Given the description of an element on the screen output the (x, y) to click on. 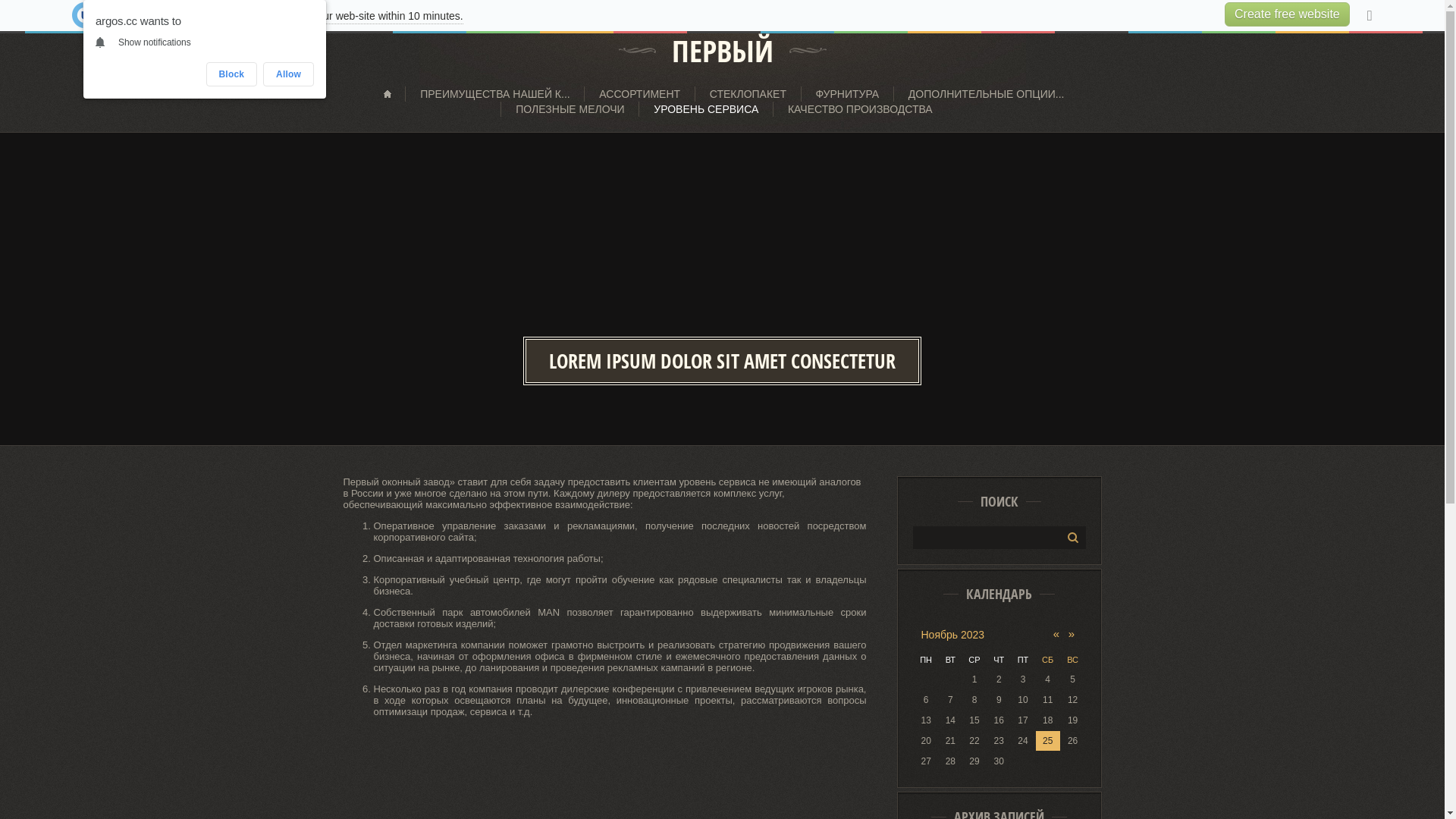
Allow Element type: text (288, 74)
Block Element type: text (231, 74)
